Given the description of an element on the screen output the (x, y) to click on. 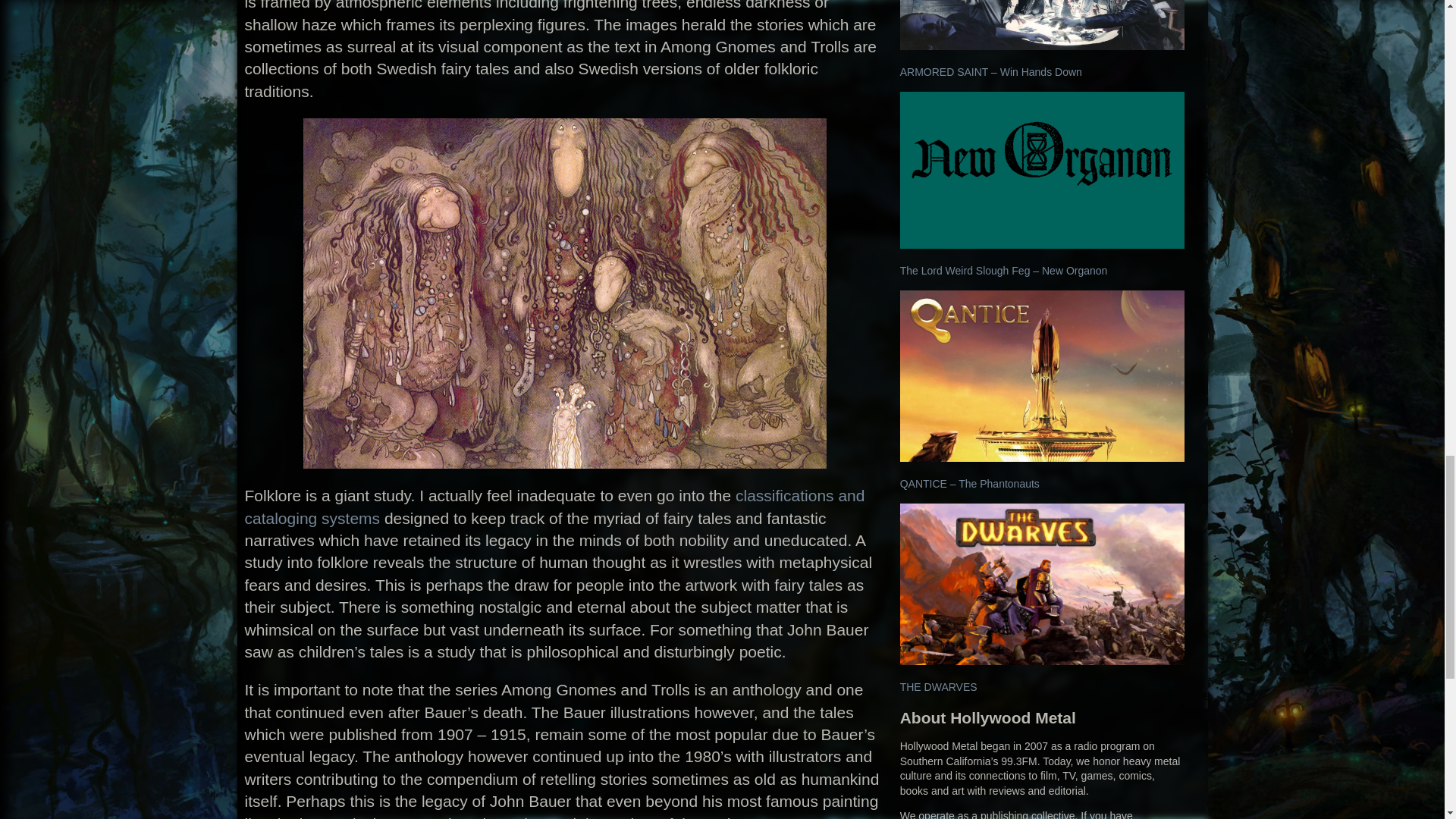
classifications and cataloging systems (554, 506)
